Given the description of an element on the screen output the (x, y) to click on. 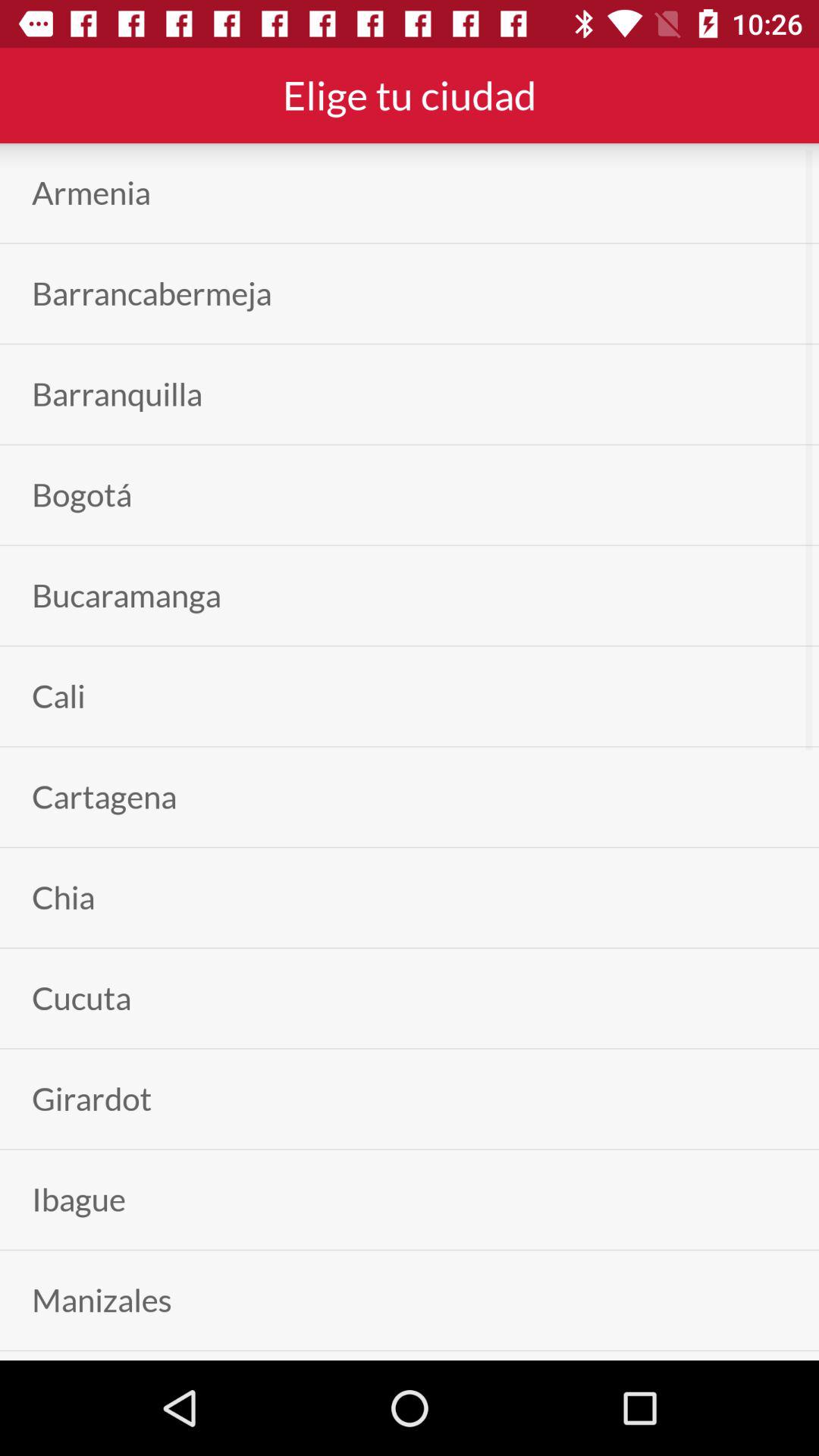
open the barranquilla item (116, 394)
